Given the description of an element on the screen output the (x, y) to click on. 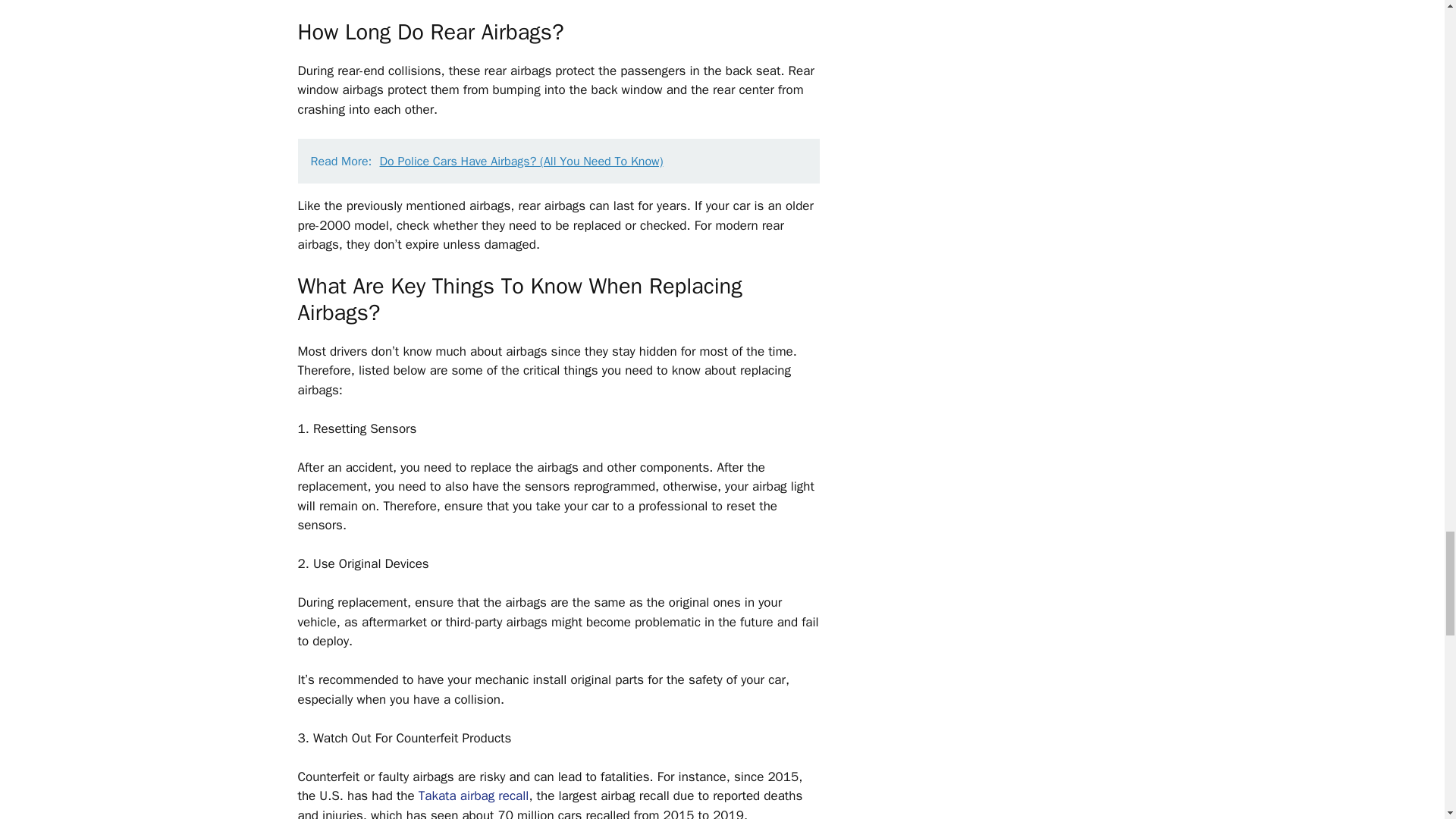
Takata airbag recall (474, 795)
